Given the description of an element on the screen output the (x, y) to click on. 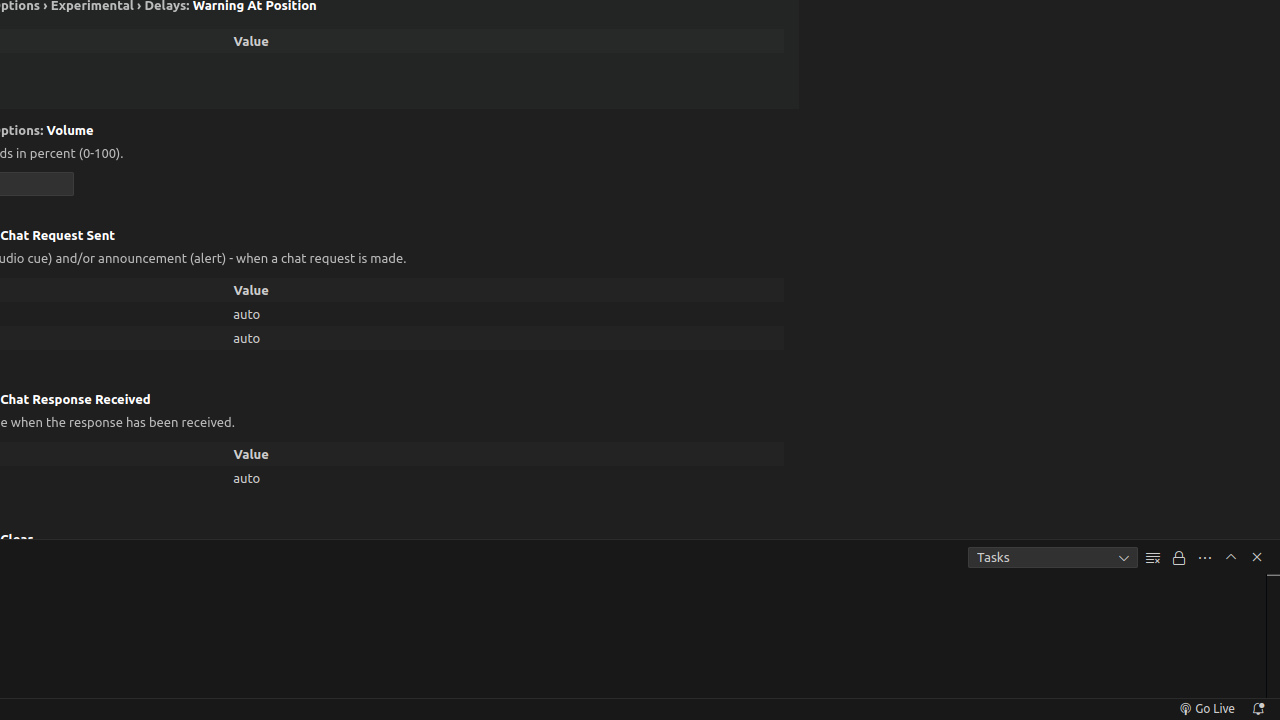
Turn Auto Scrolling Off Element type: check-box (1179, 557)
Hide Panel Element type: push-button (1257, 557)
Clear Output Element type: push-button (1153, 557)
